Given the description of an element on the screen output the (x, y) to click on. 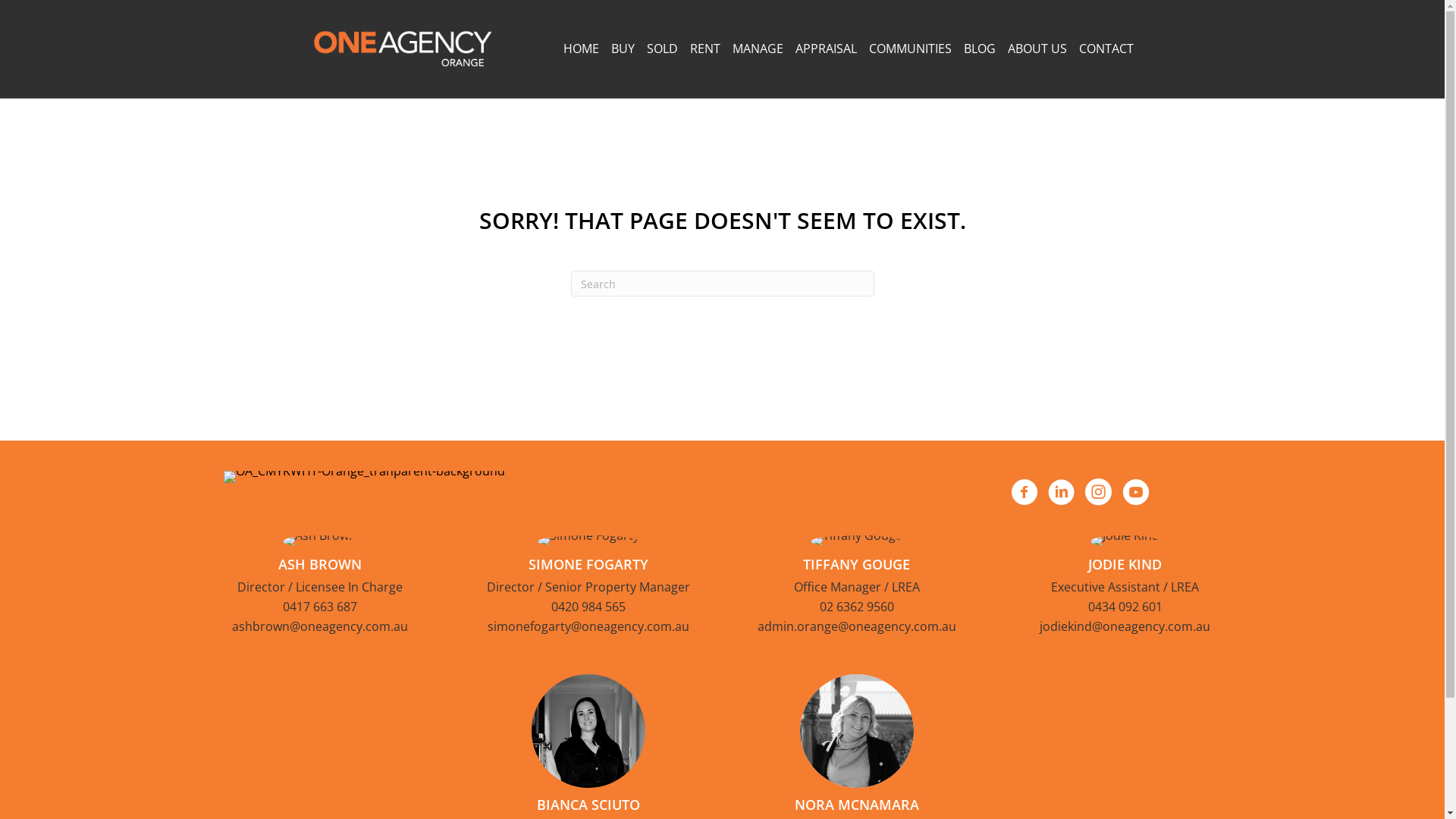
OA_CMYKWHT-Orange_tranparent-background Element type: hover (364, 476)
simone-fogarty Element type: hover (587, 541)
ash-brown Element type: hover (319, 541)
jodie-kind Element type: hover (1124, 541)
9 Element type: hover (856, 730)
CONTACT Element type: text (1105, 48)
BLOG Element type: text (979, 48)
BUY Element type: text (622, 48)
SOLD Element type: text (661, 48)
tiffany-gouge-headshot Element type: hover (856, 541)
bianca-sciuto Element type: hover (587, 730)
RENT Element type: text (705, 48)
APPRAISAL Element type: text (825, 48)
COMMUNITIES Element type: text (909, 48)
HOME Element type: text (580, 48)
Type and press Enter to search. Element type: hover (721, 283)
MANAGE Element type: text (757, 48)
ABOUT US Element type: text (1036, 48)
